Given the description of an element on the screen output the (x, y) to click on. 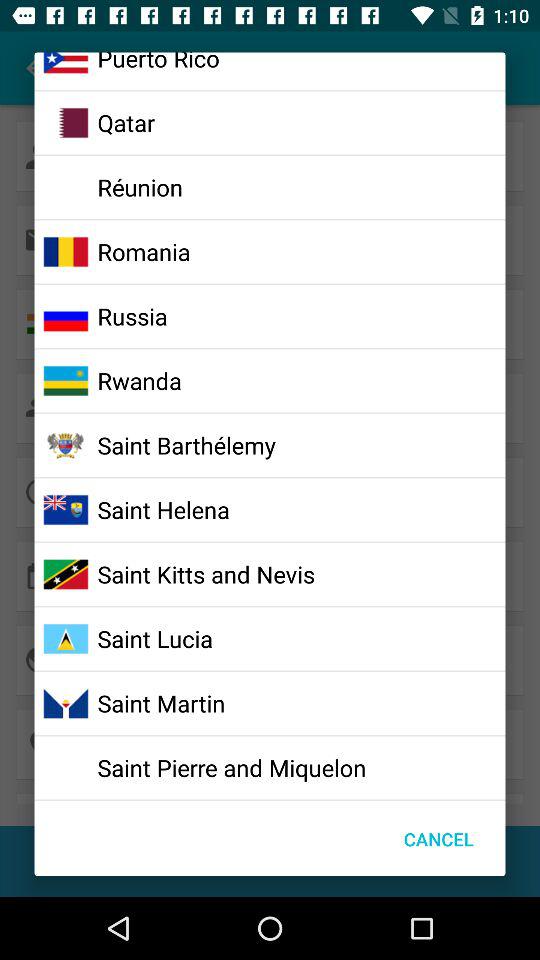
launch the rwanda icon (139, 380)
